Given the description of an element on the screen output the (x, y) to click on. 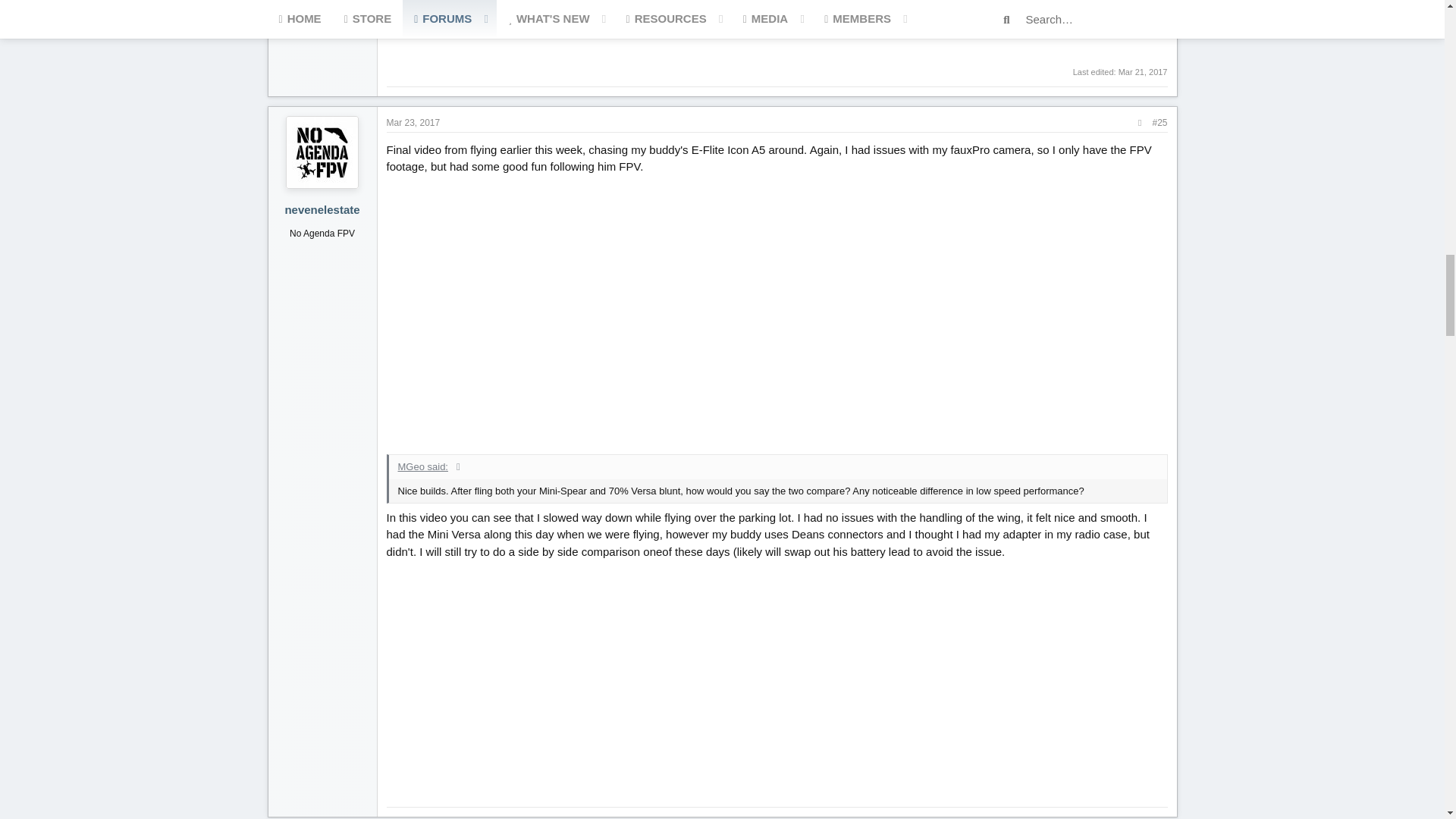
Mar 21, 2017 at 4:09 PM (1142, 71)
Mar 23, 2017 at 9:22 AM (414, 122)
